Given the description of an element on the screen output the (x, y) to click on. 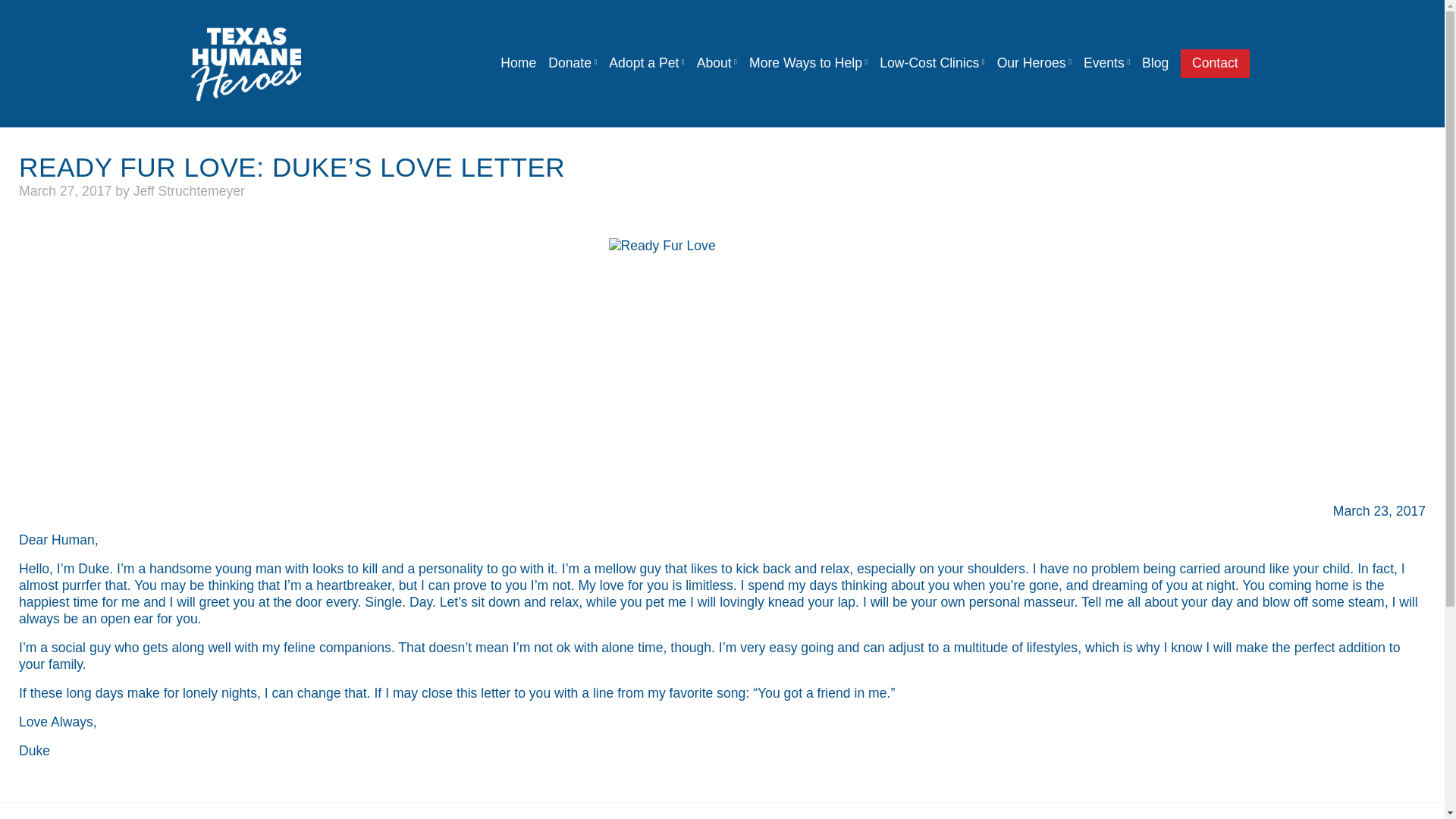
Blog (1154, 63)
TEXAS HUMANE HEROES (380, 139)
Our Heroes (1034, 63)
Home (518, 63)
Adopt a Pet (646, 63)
Low-Cost Clinics (931, 63)
March 27, 2017 (65, 191)
Donate (571, 63)
Events (1106, 63)
About (716, 63)
